Given the description of an element on the screen output the (x, y) to click on. 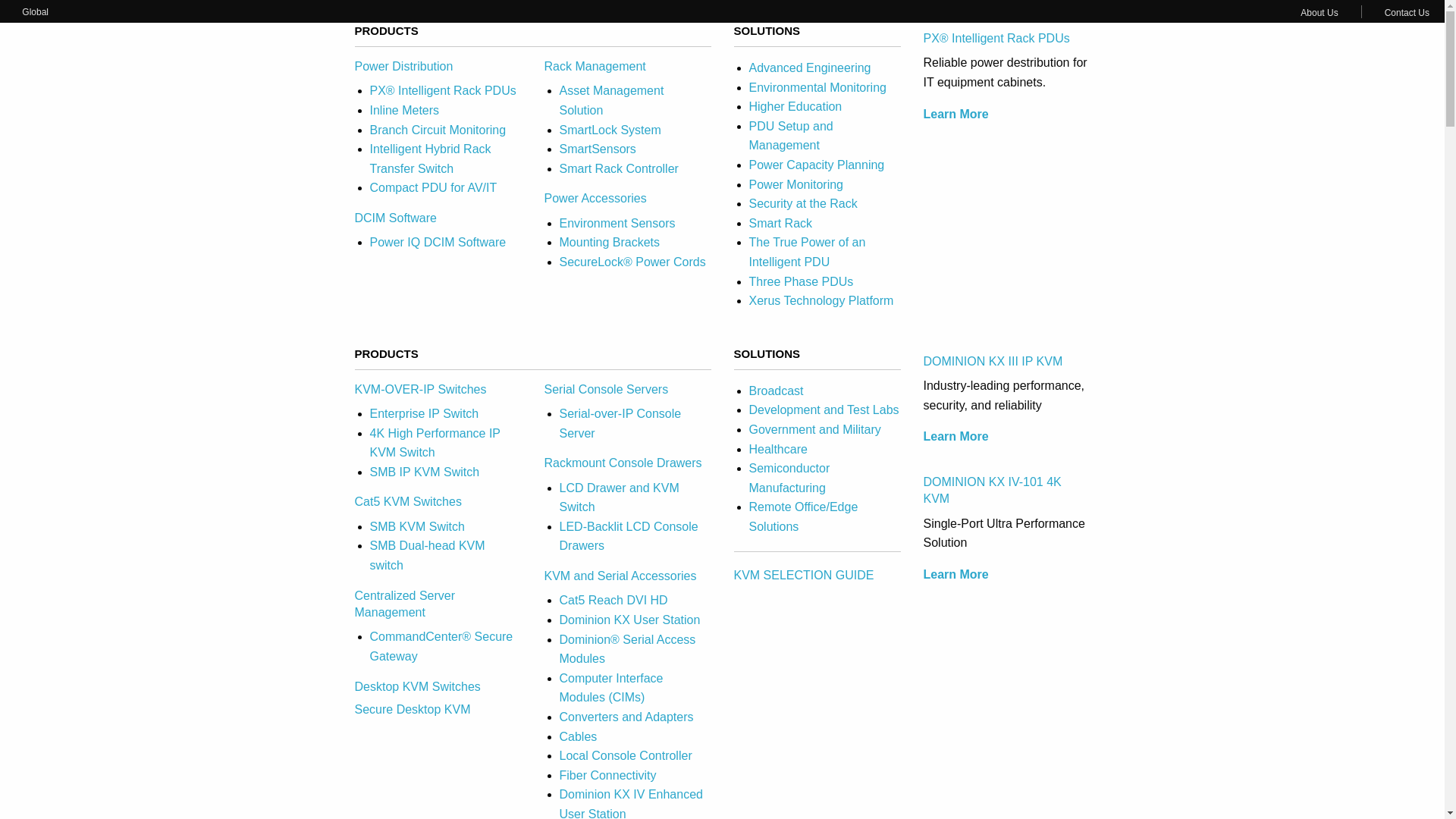
Cat5 KVM Switches (408, 501)
SmartLock System (610, 129)
Higher Education (796, 106)
Power IQ DCIM Software (437, 241)
Power Distribution (403, 65)
Power Capacity Planning (817, 164)
Mounting Brackets (610, 241)
Enterprise IP Switch (424, 413)
PDU Setup and Management (790, 135)
Environmental Monitoring (817, 87)
